Given the description of an element on the screen output the (x, y) to click on. 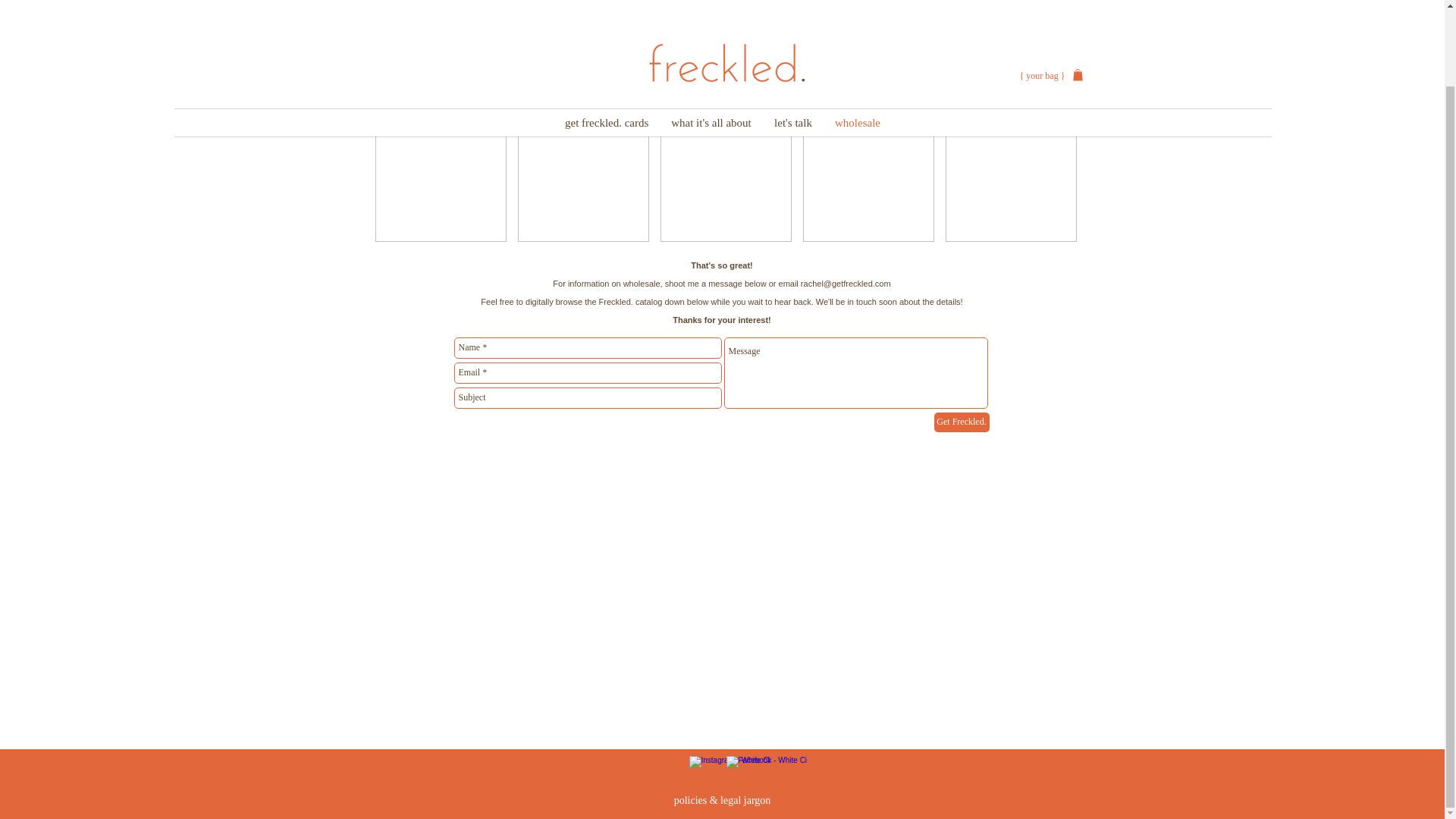
let's talk (793, 36)
Freckled-Site-Logo-No-Tag-02.png (722, 13)
get freckled. cards (606, 36)
wholesale (857, 36)
Get Freckled. (962, 422)
what it's all about (710, 36)
